Given the description of an element on the screen output the (x, y) to click on. 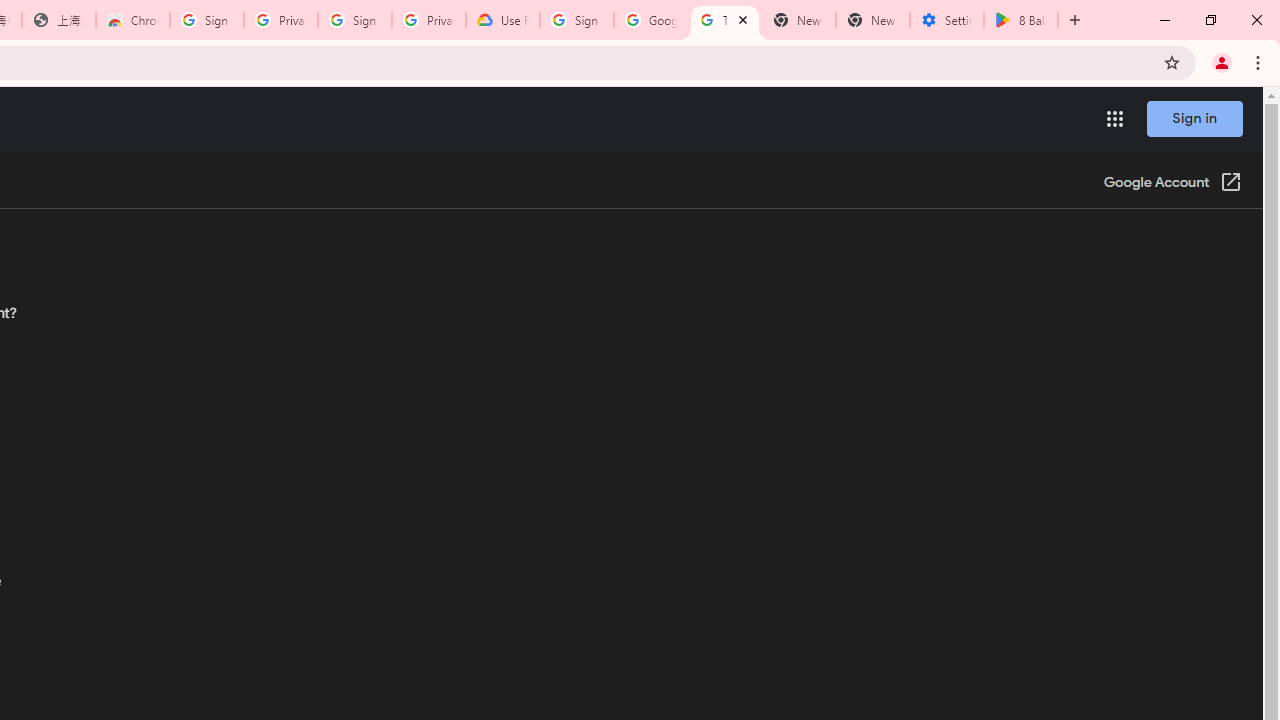
Settings - System (947, 20)
Sign in - Google Accounts (354, 20)
8 Ball Pool - Apps on Google Play (1021, 20)
New Tab (872, 20)
Google Account Help (651, 20)
Google Account (Open in a new window) (1172, 183)
Turn cookies on or off - Computer - Google Account Help (724, 20)
